Given the description of an element on the screen output the (x, y) to click on. 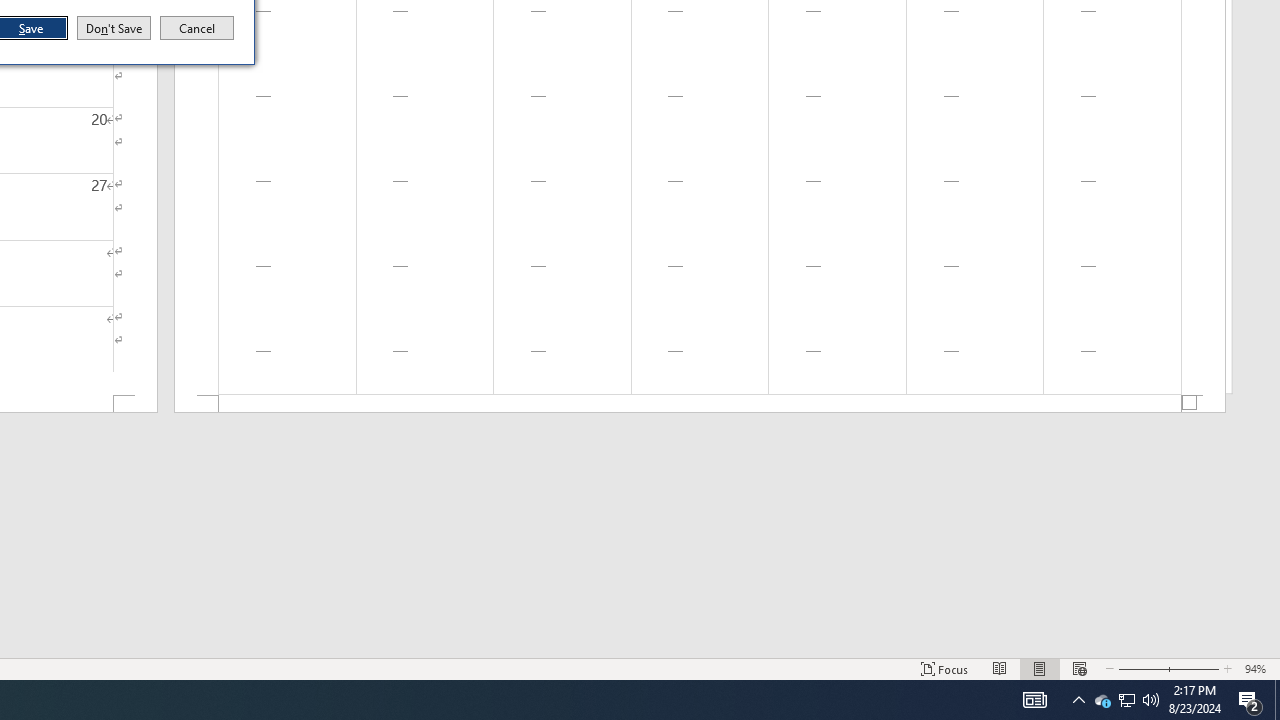
Cancel (197, 27)
Don't Save (113, 27)
